Given the description of an element on the screen output the (x, y) to click on. 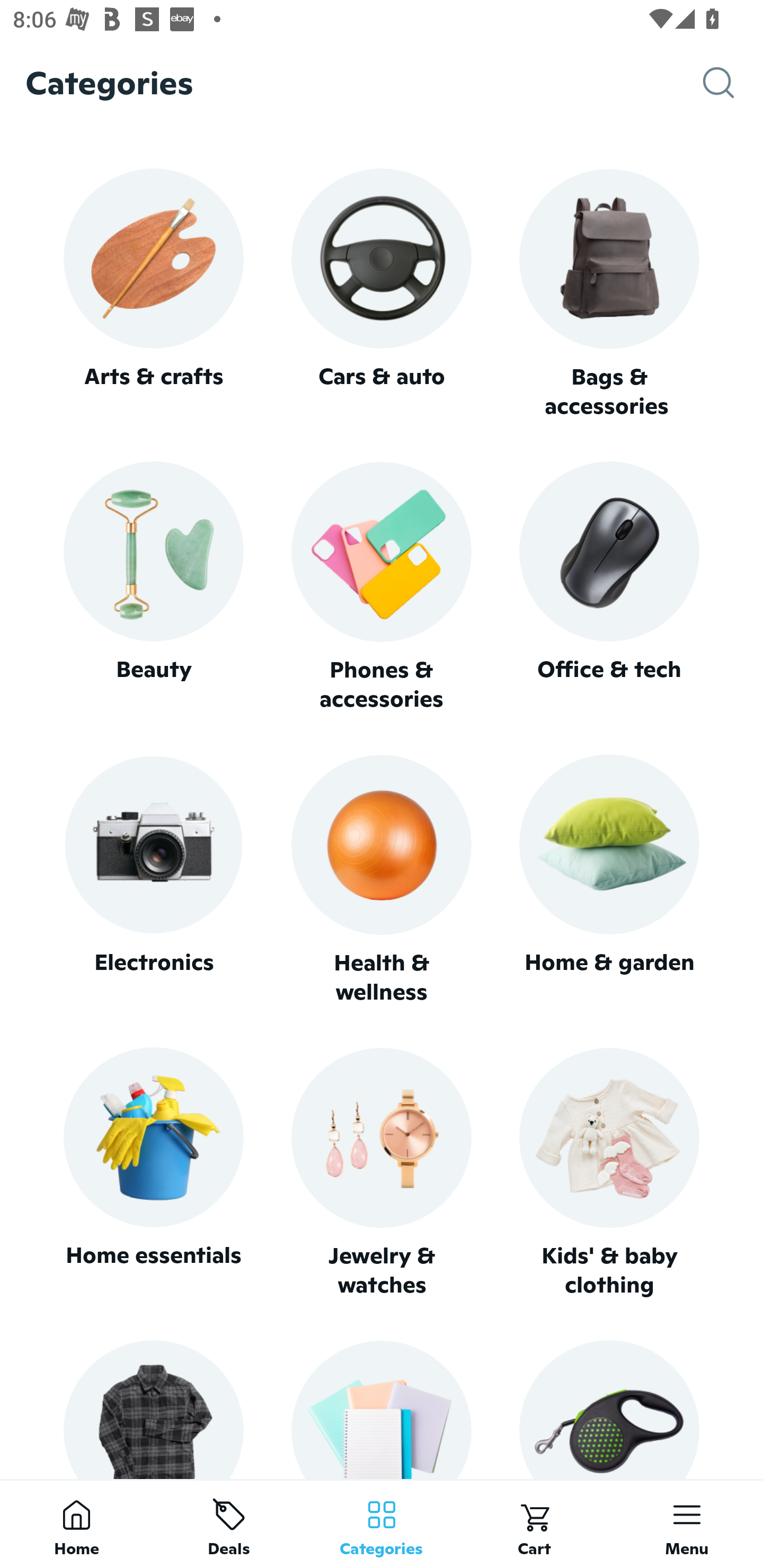
Search (732, 82)
Arts & crafts (153, 293)
Cars & auto (381, 293)
Bags & accessories  (609, 294)
Beauty (153, 586)
Office & tech (609, 586)
Phones & accessories (381, 587)
Electronics (153, 880)
Home & garden (609, 880)
Health & wellness (381, 880)
Home essentials (153, 1172)
Jewelry & watches (381, 1172)
Kids' & baby clothing (609, 1172)
Men's clothing (153, 1409)
Pet supplies (609, 1409)
Office & school supplies (381, 1409)
Home (76, 1523)
Deals (228, 1523)
Categories (381, 1523)
Cart (533, 1523)
Menu (686, 1523)
